Given the description of an element on the screen output the (x, y) to click on. 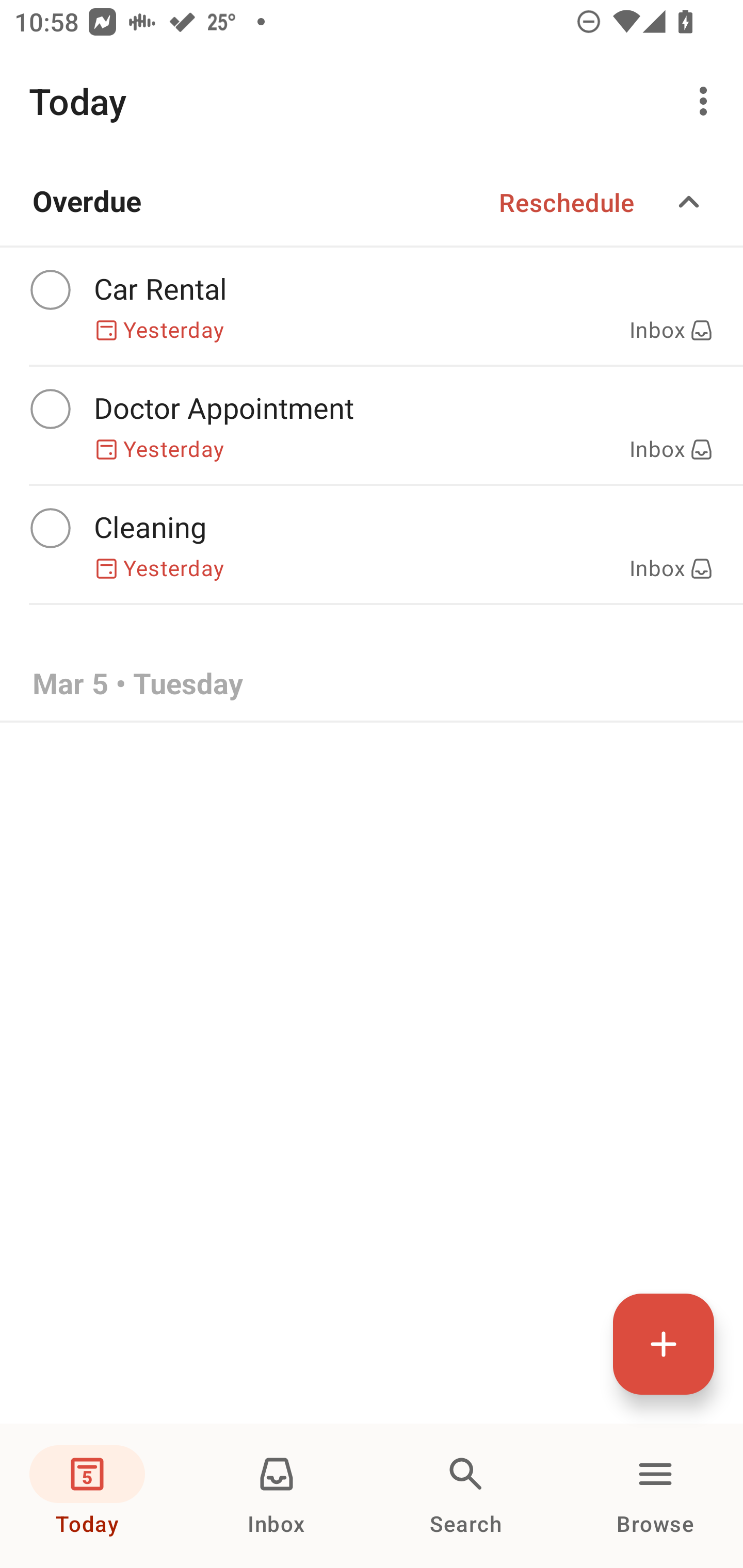
Today More options (371, 100)
More options (706, 101)
Overdue Reschedule Expand/collapse (371, 202)
Reschedule (566, 202)
Complete Car Rental Yesterday Inbox (371, 306)
Complete (50, 289)
Complete Doctor Appointment Yesterday Inbox (371, 425)
Complete (50, 409)
Complete Cleaning Yesterday Inbox (371, 544)
Complete (50, 528)
Mar 5 • Tuesday (371, 684)
Quick add (663, 1343)
Inbox (276, 1495)
Search (465, 1495)
Browse (655, 1495)
